Given the description of an element on the screen output the (x, y) to click on. 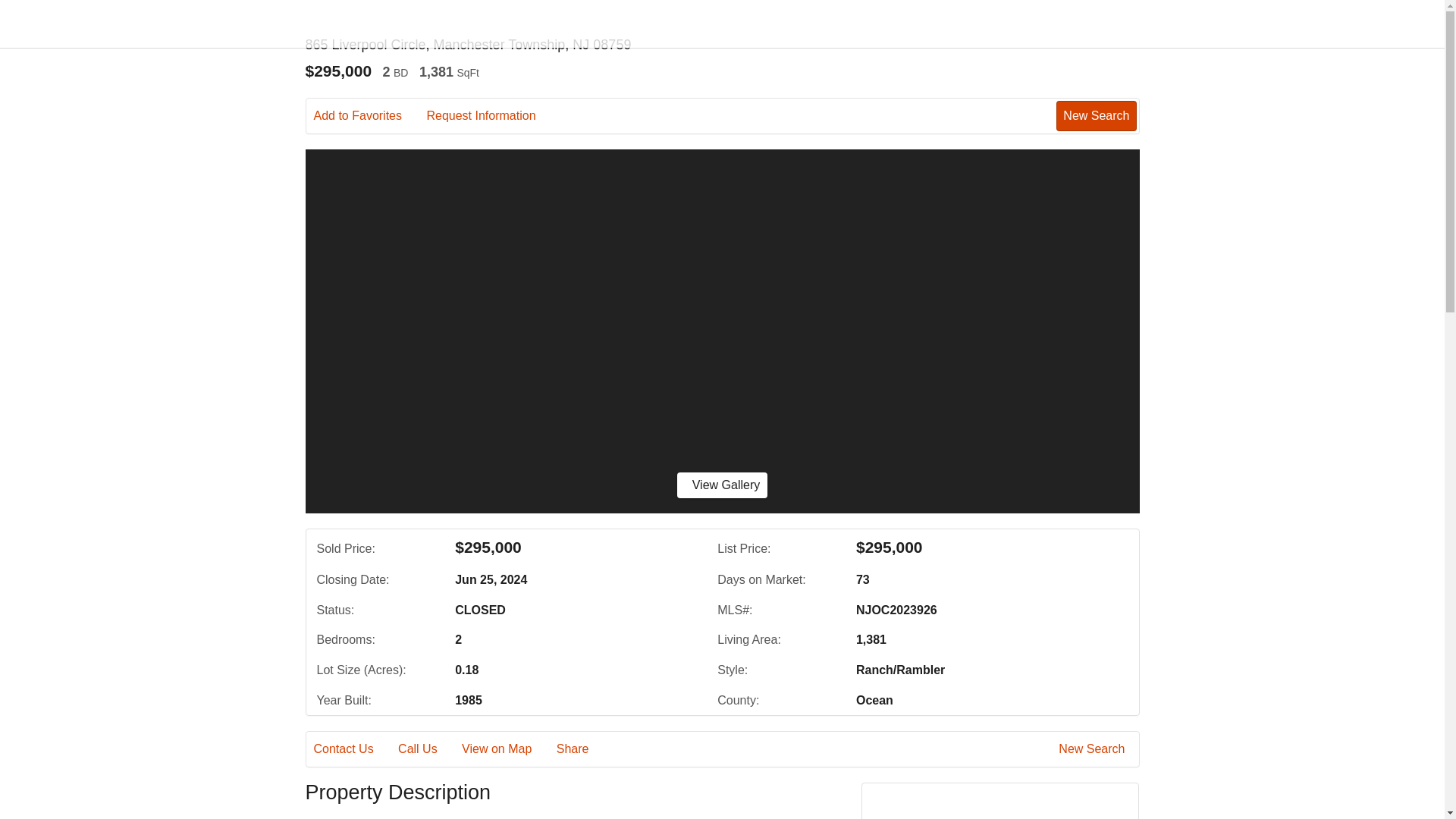
609-346-8209 (1000, 816)
View on Map (507, 748)
Call Us (427, 748)
New Search (1096, 115)
Share (583, 748)
Add to Favorites (368, 115)
New Search (1094, 748)
View Gallery (722, 484)
View Gallery (722, 484)
Contact Us (354, 748)
Request Information (491, 115)
